Given the description of an element on the screen output the (x, y) to click on. 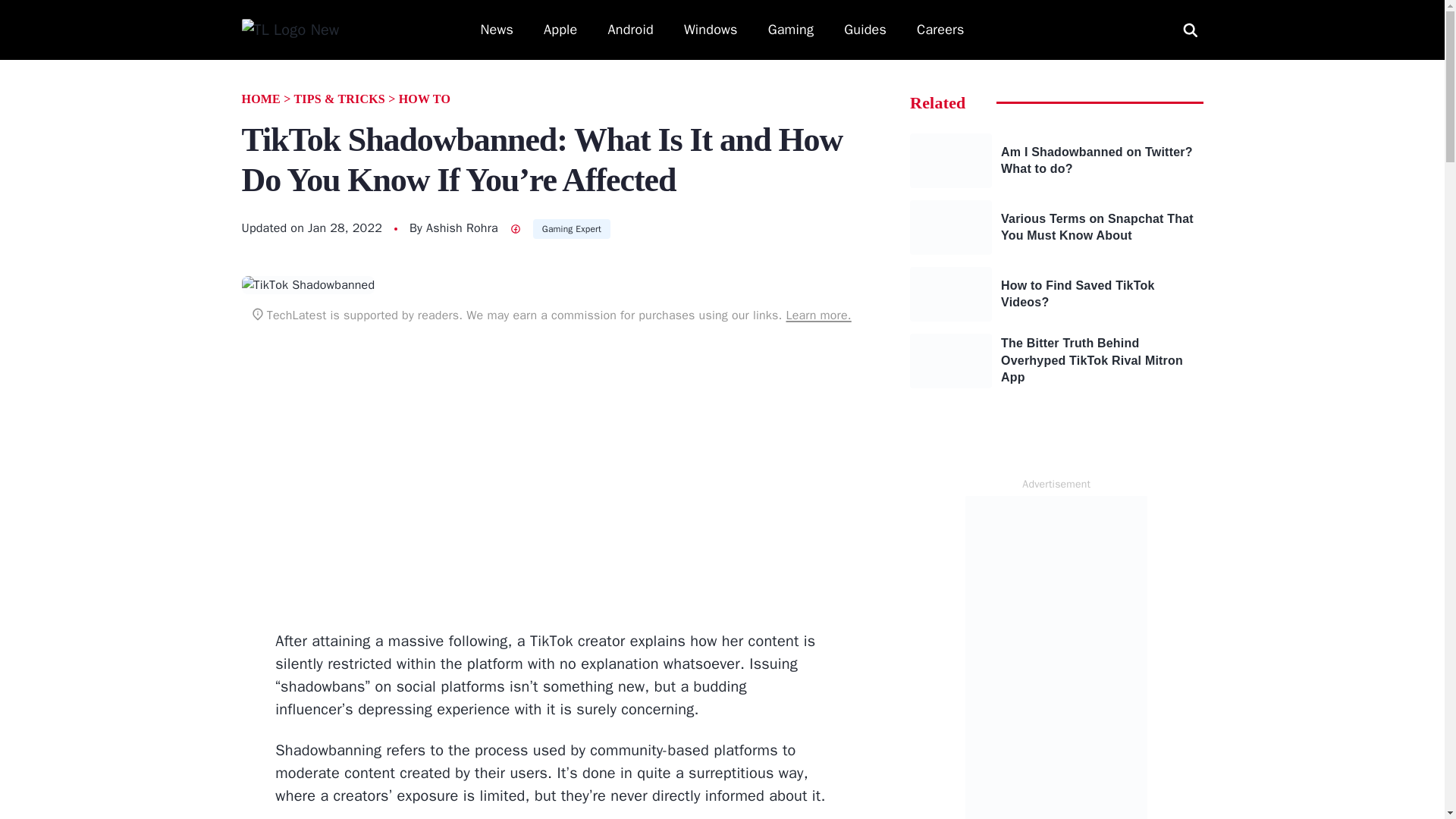
Guides (865, 30)
Ashish Rohra (461, 227)
Gaming (790, 30)
Android (630, 30)
Windows (711, 30)
HOME (260, 98)
Apple (560, 30)
Careers (940, 30)
News (496, 30)
Learn more. (818, 314)
